Given the description of an element on the screen output the (x, y) to click on. 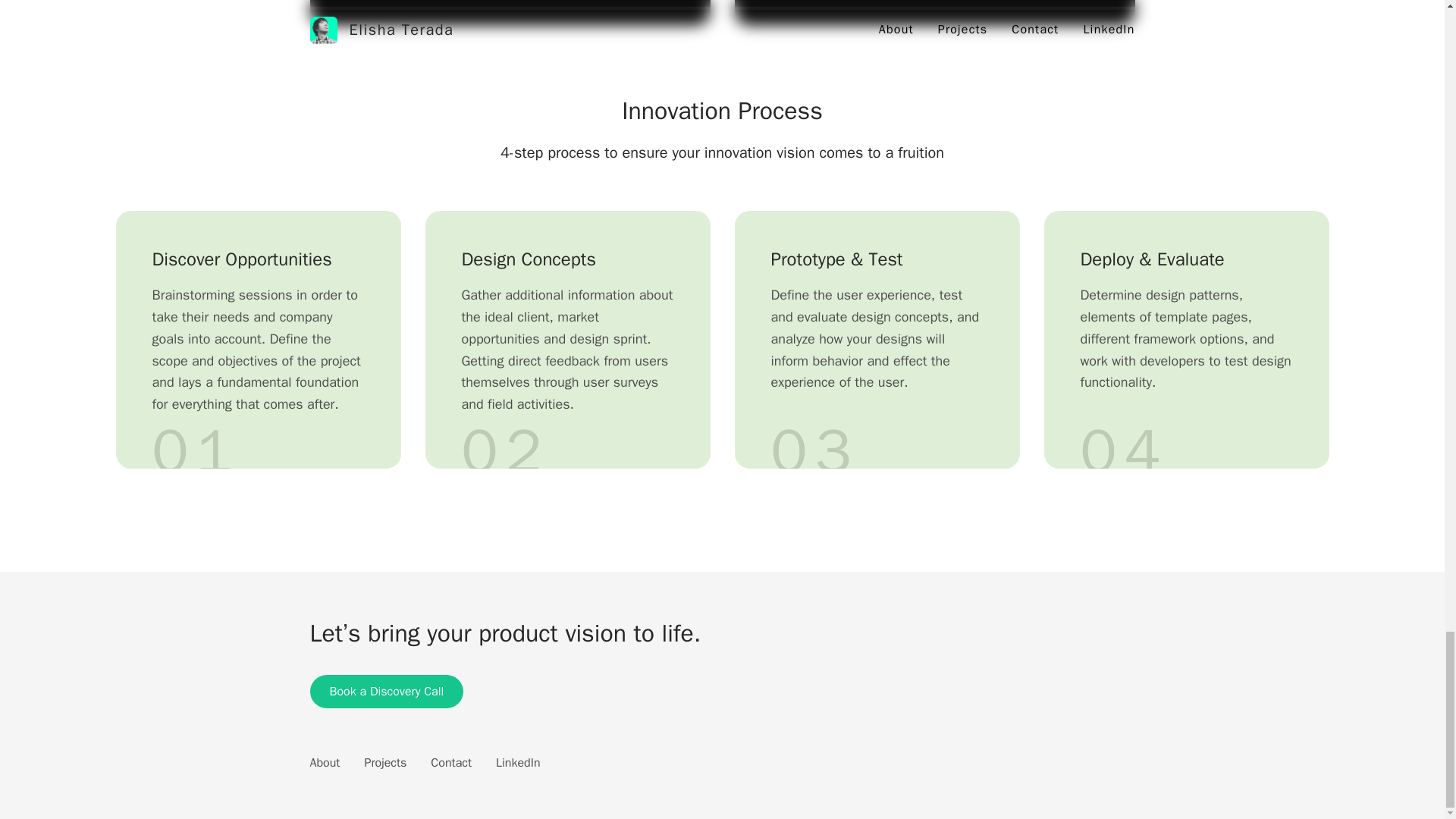
About (323, 762)
LinkedIn (518, 762)
Projects (385, 762)
Book a Discovery Call (385, 691)
Contact (450, 762)
